Given the description of an element on the screen output the (x, y) to click on. 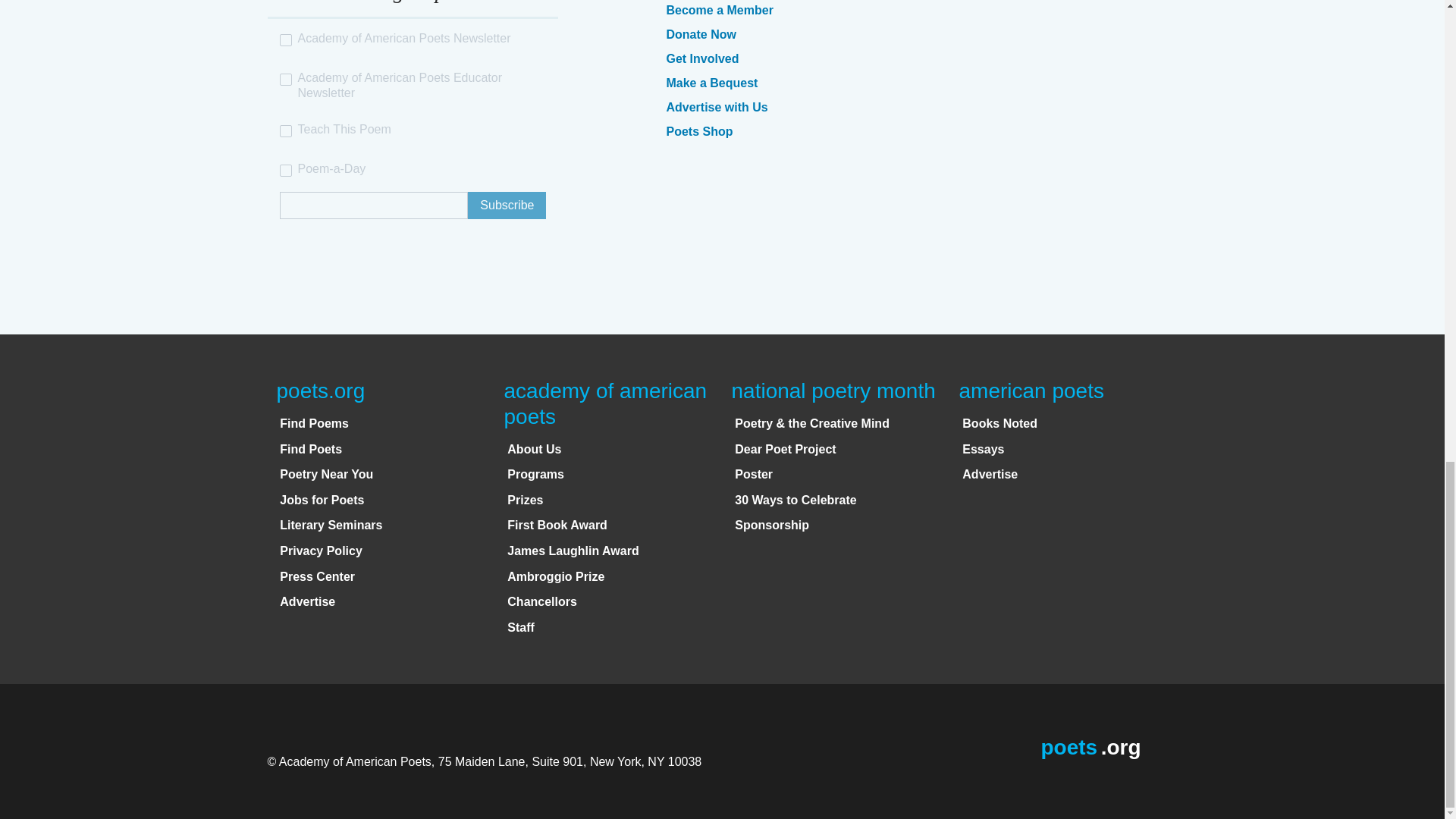
Subscribe (506, 205)
Get Involved (701, 58)
Literary Seminars (330, 524)
Press Center (317, 576)
Make a Bequest (711, 82)
Subscribe (506, 205)
Become a Member (719, 10)
Privacy Policy (320, 550)
Advertise with Us (716, 106)
Poetry Near You (325, 473)
